Given the description of an element on the screen output the (x, y) to click on. 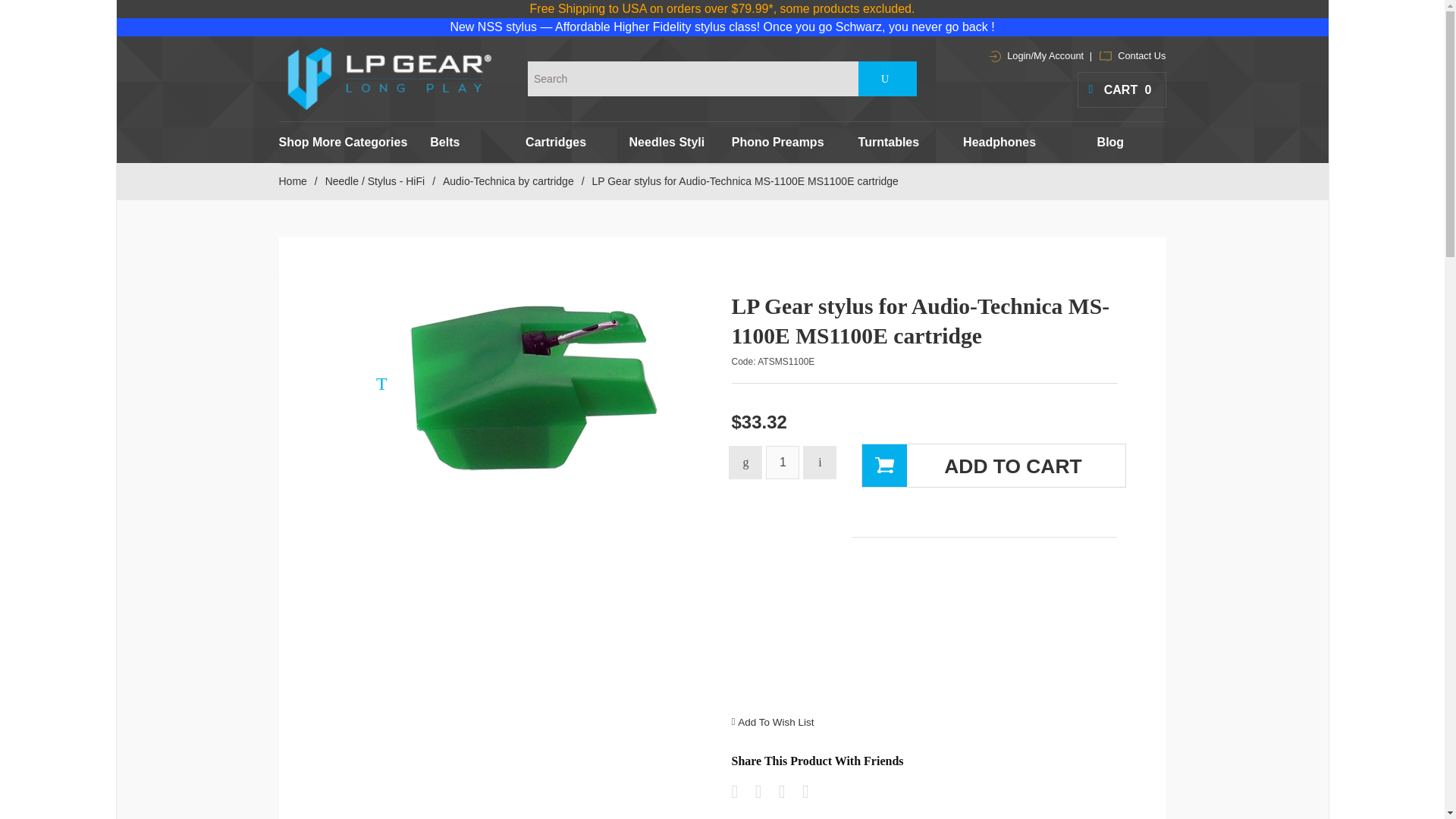
Belts (445, 142)
Turntables (887, 142)
1 (782, 462)
Add to Cart (993, 465)
Add To Wish List (775, 721)
Phono Preamps (777, 142)
CART 0 (1121, 89)
Needles Styli (666, 142)
Audio-Technica by cartridge (507, 181)
LP Gear stylus for Audio-Technica MS-1100E MS1100E cartridge (530, 386)
Welcome to LP Gear (390, 78)
Contact Us (1132, 55)
PayPal (983, 637)
Home (293, 181)
LP Gear (389, 78)
